Given the description of an element on the screen output the (x, y) to click on. 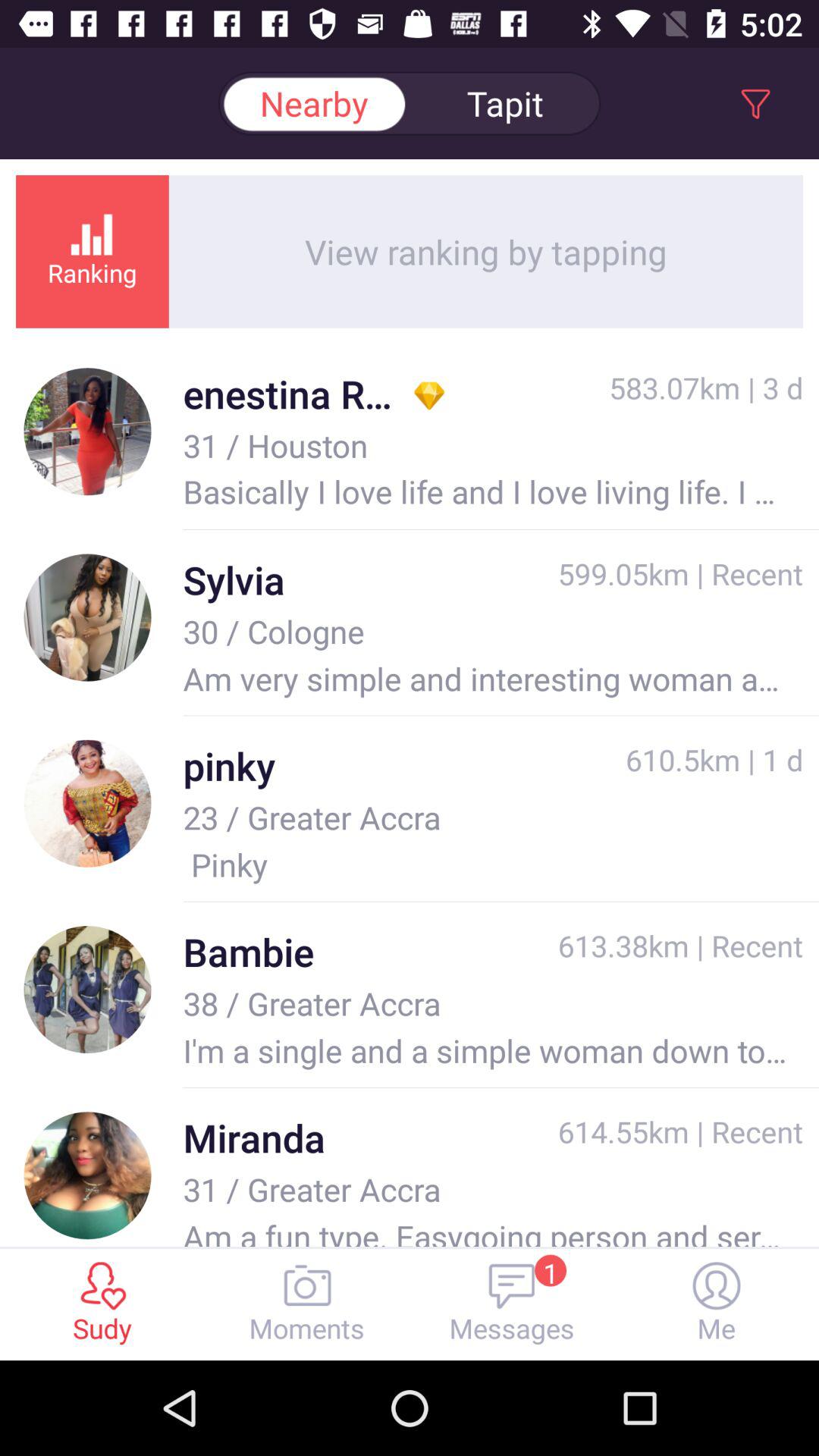
choose the icon to the left of the tapit item (313, 103)
